Given the description of an element on the screen output the (x, y) to click on. 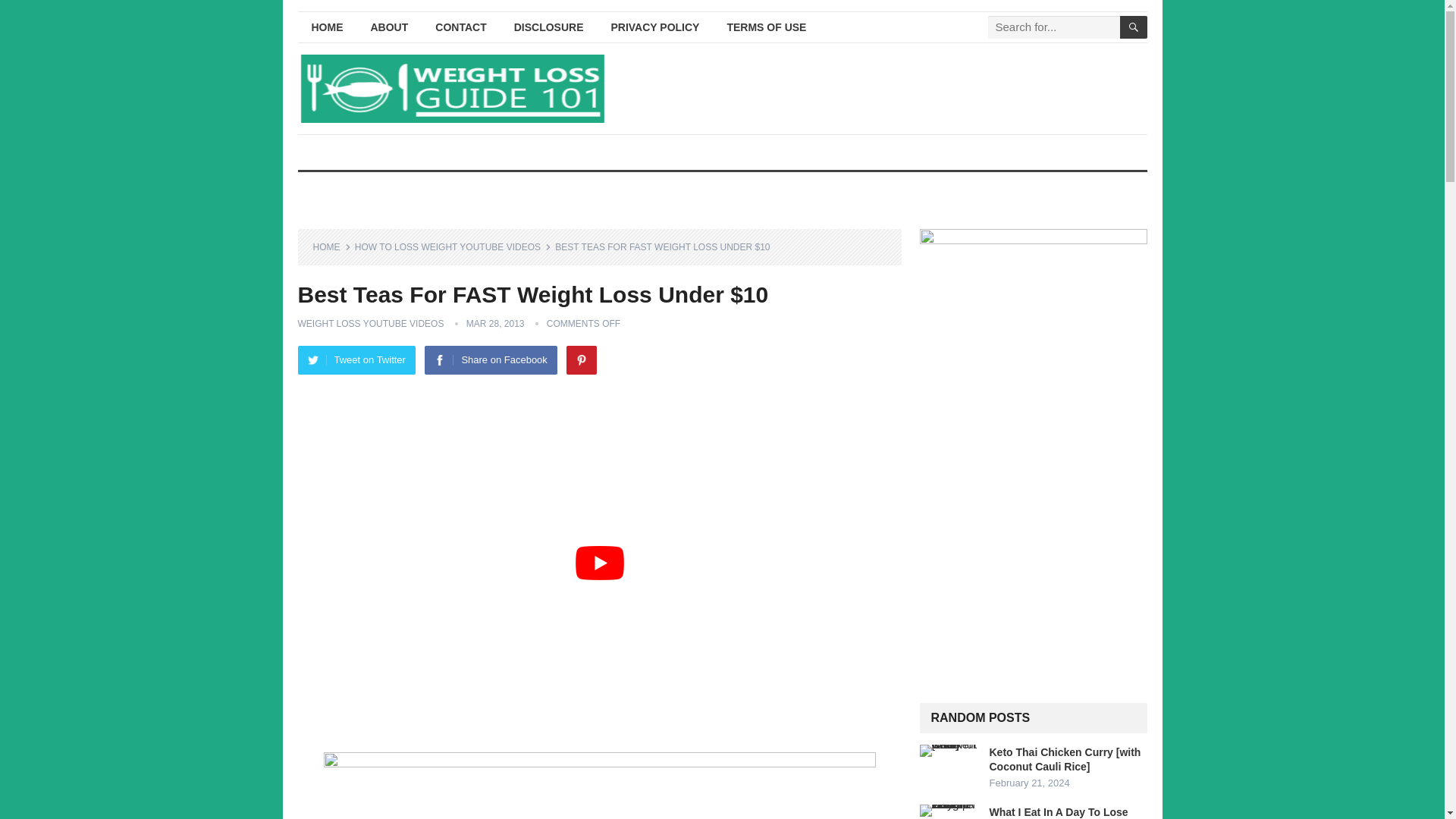
DISCLOSURE (548, 27)
HOME (331, 246)
Pinterest (581, 359)
WEIGHT LOSS YOUTUBE VIDEOS (370, 323)
Share on Facebook (490, 359)
ABOUT (389, 27)
Tweet on Twitter (355, 359)
TERMS OF USE (766, 27)
View all posts in How To Loss Weight YouTube Videos (453, 246)
CONTACT (460, 27)
PRIVACY POLICY (654, 27)
Posts by Weight Loss YouTube Videos (370, 323)
HOME (326, 27)
HOW TO LOSS WEIGHT YOUTUBE VIDEOS (453, 246)
